Given the description of an element on the screen output the (x, y) to click on. 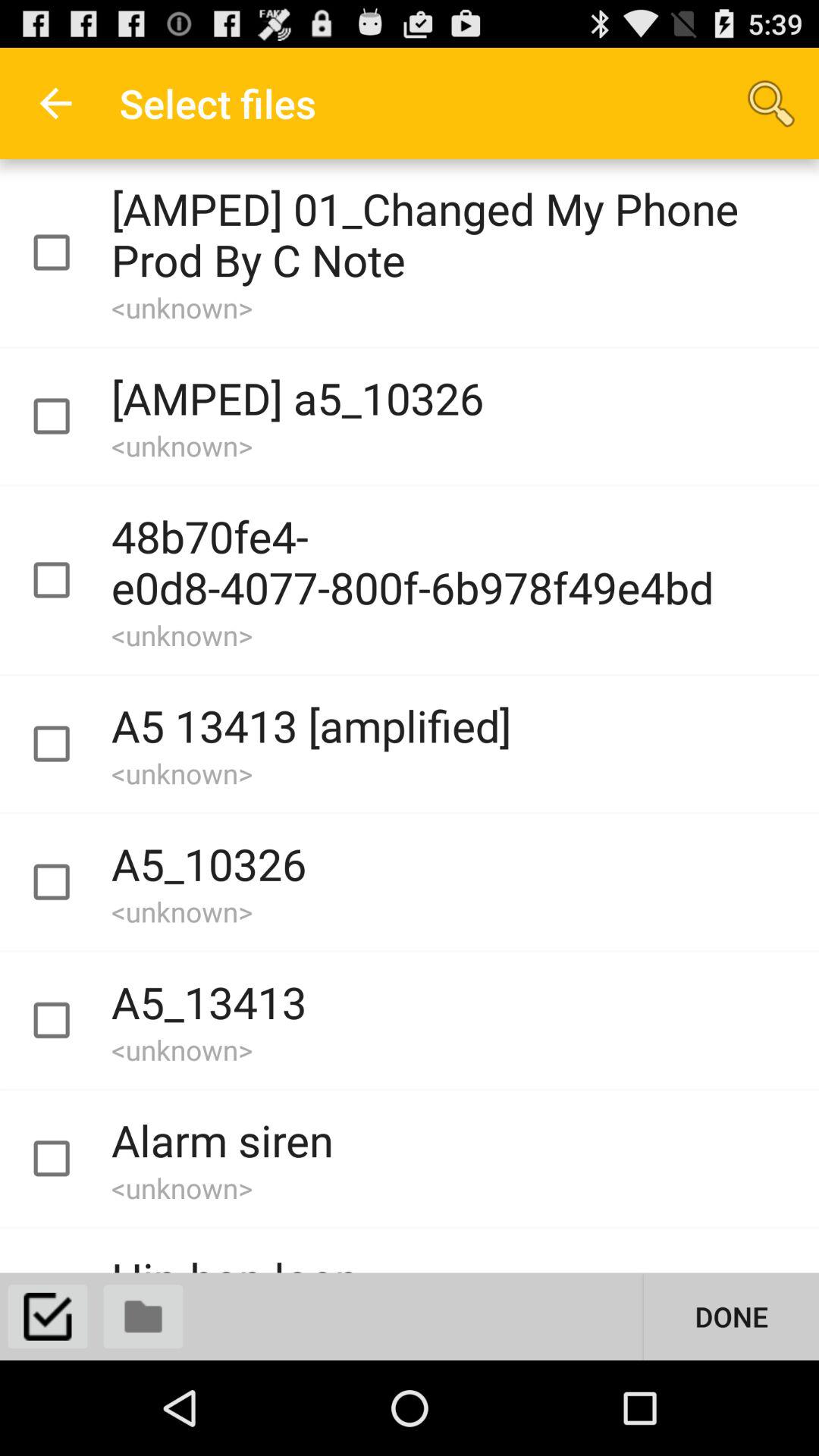
displays folders (143, 1316)
